Given the description of an element on the screen output the (x, y) to click on. 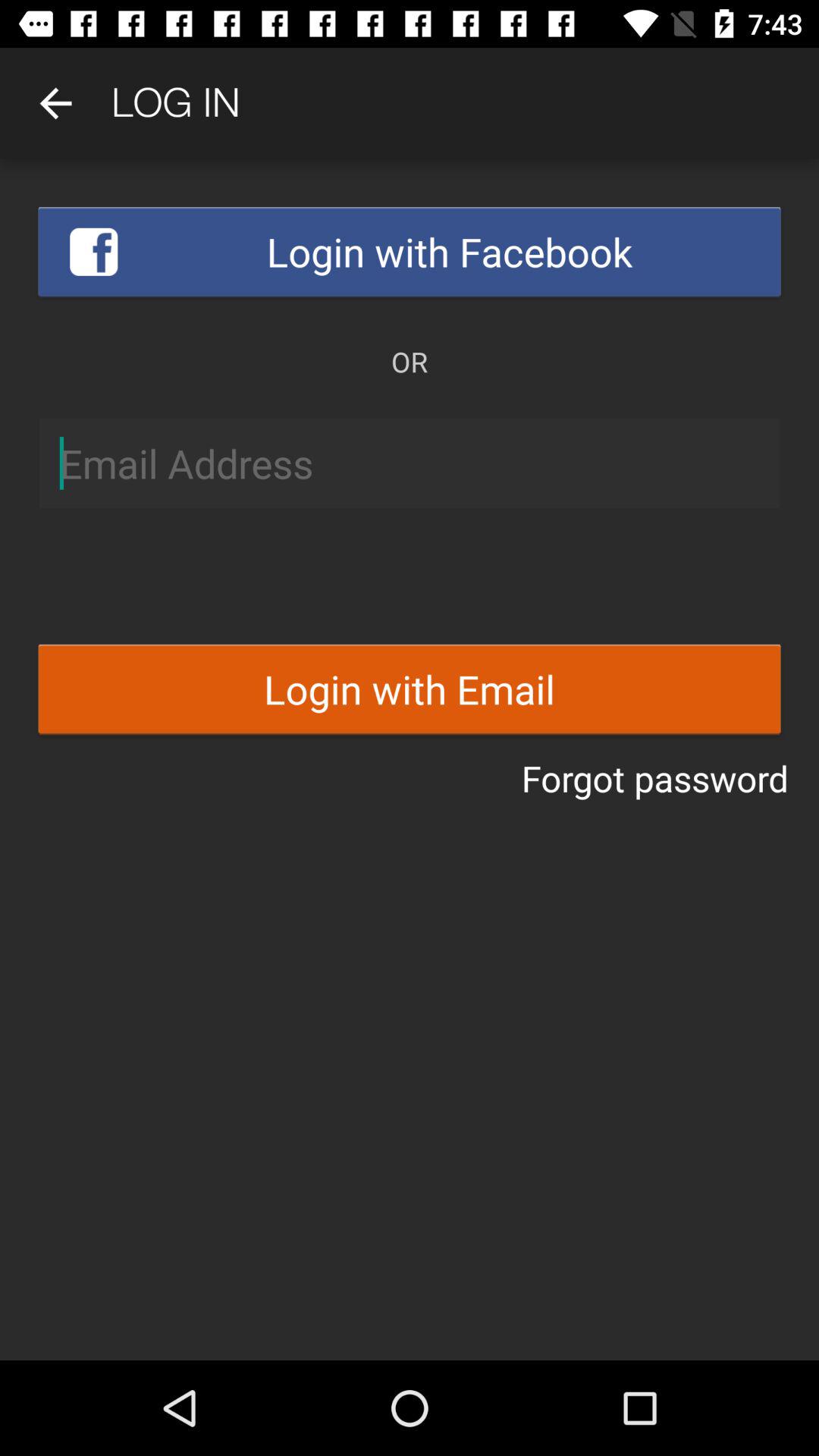
turn off the item on the right (654, 778)
